Given the description of an element on the screen output the (x, y) to click on. 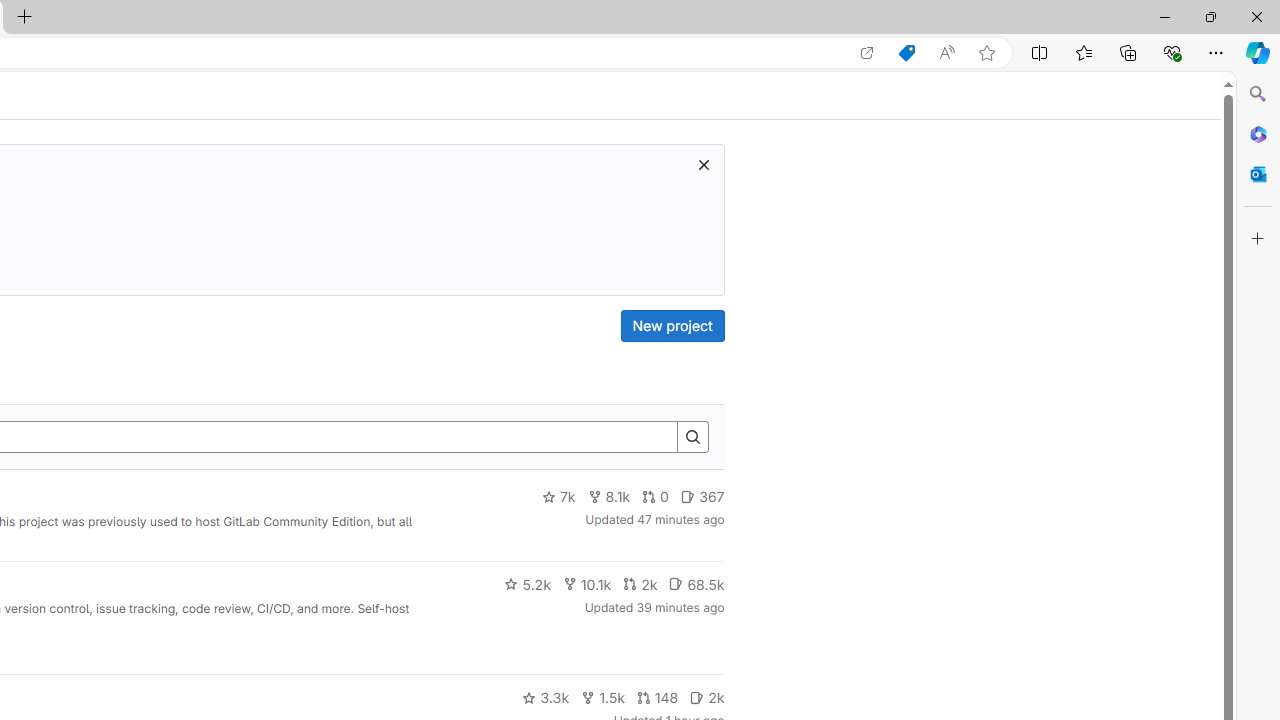
0 (655, 497)
8.1k (609, 497)
Class: s14 gl-mr-2 (697, 696)
Close Outlook pane (1258, 174)
Class: s16 gl-icon gl-button-icon  (703, 164)
1.5k (602, 697)
Shopping in Microsoft Edge (906, 53)
68.5k (696, 583)
148 (657, 697)
